Given the description of an element on the screen output the (x, y) to click on. 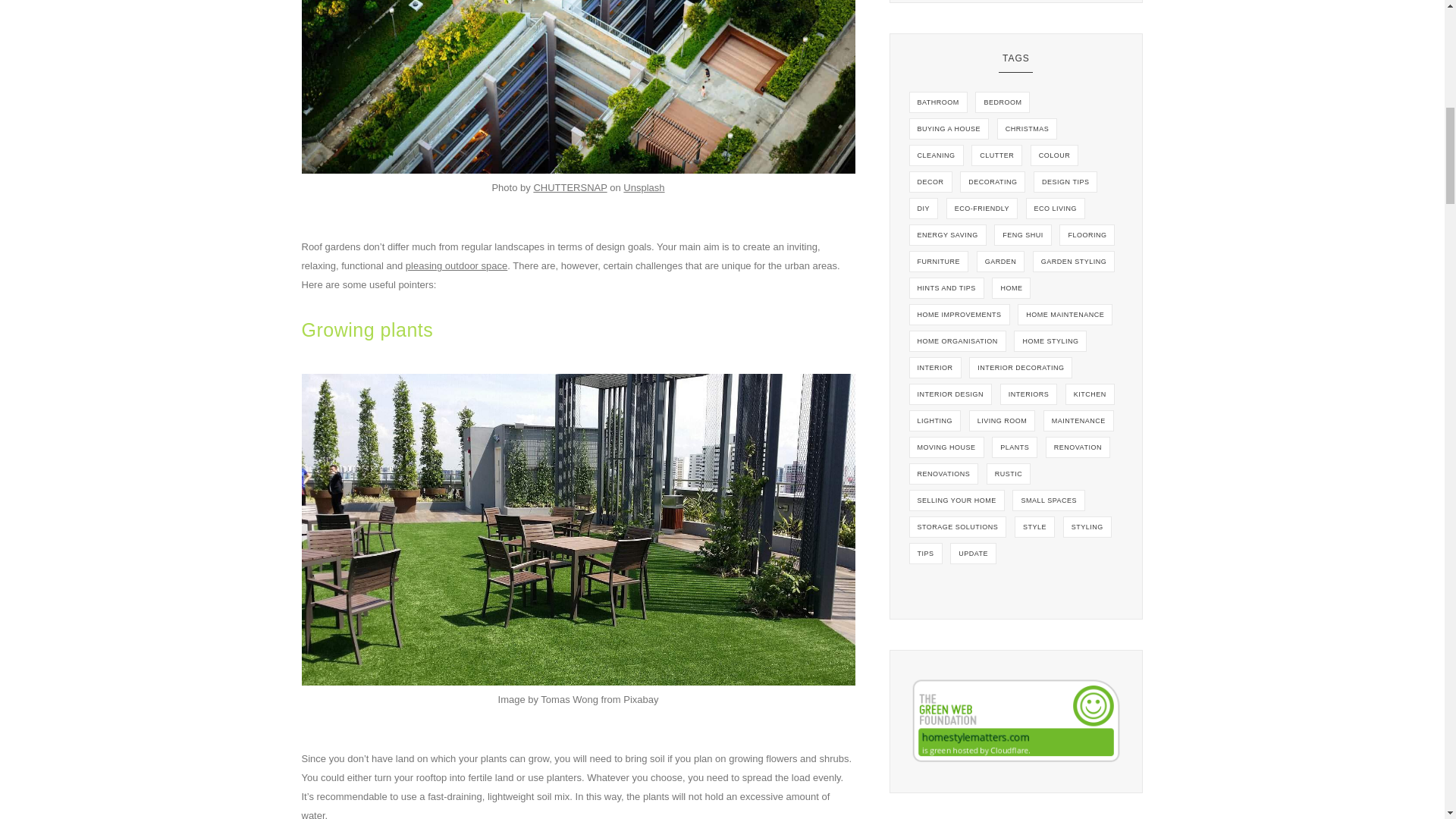
Roof Garden Ideas (578, 86)
